Given the description of an element on the screen output the (x, y) to click on. 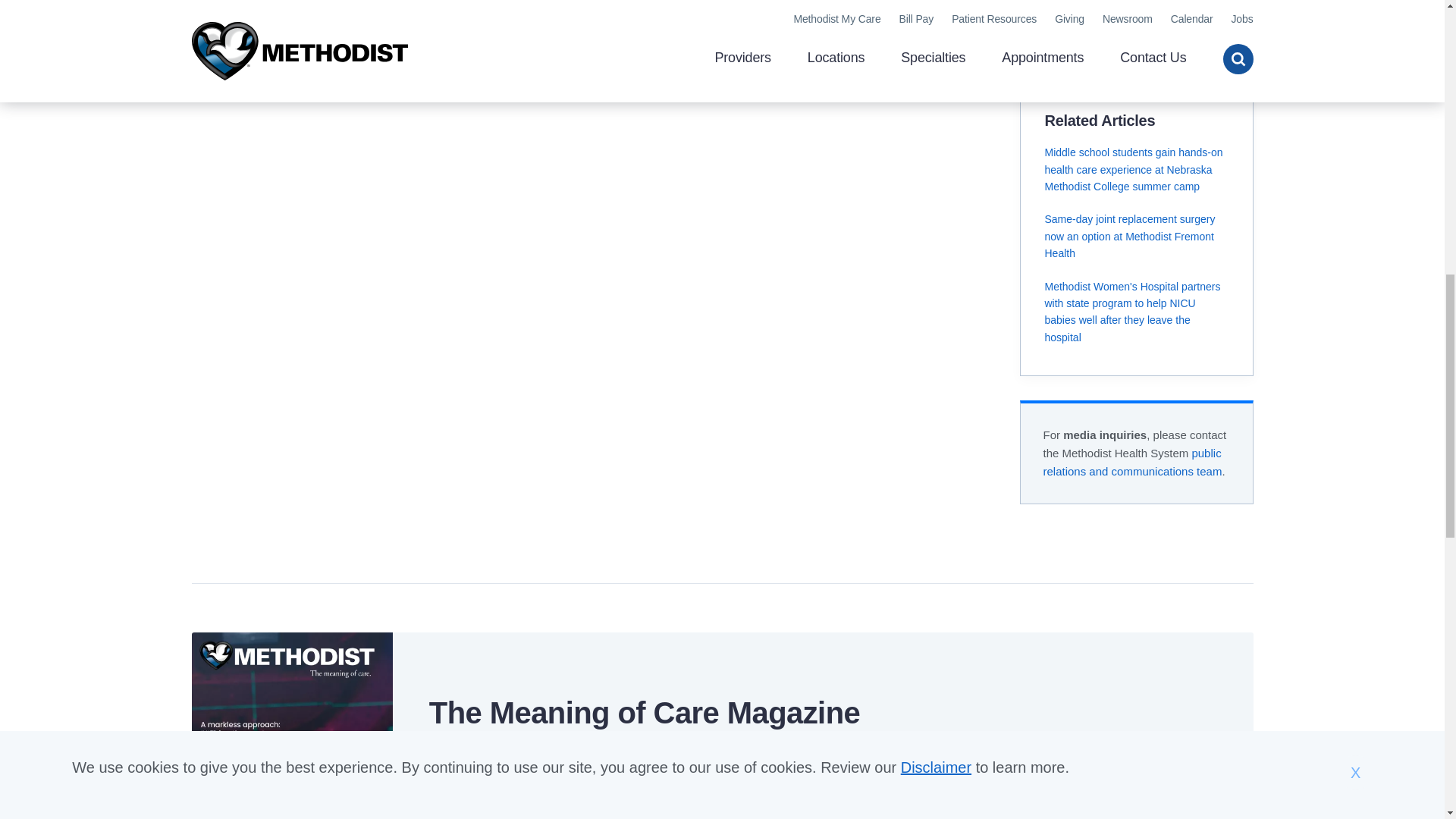
Women's Health (1085, 19)
public relations and communications team (1133, 461)
Check Out the Magazine (506, 796)
Methodist Health System media inquiry (1133, 461)
